Given the description of an element on the screen output the (x, y) to click on. 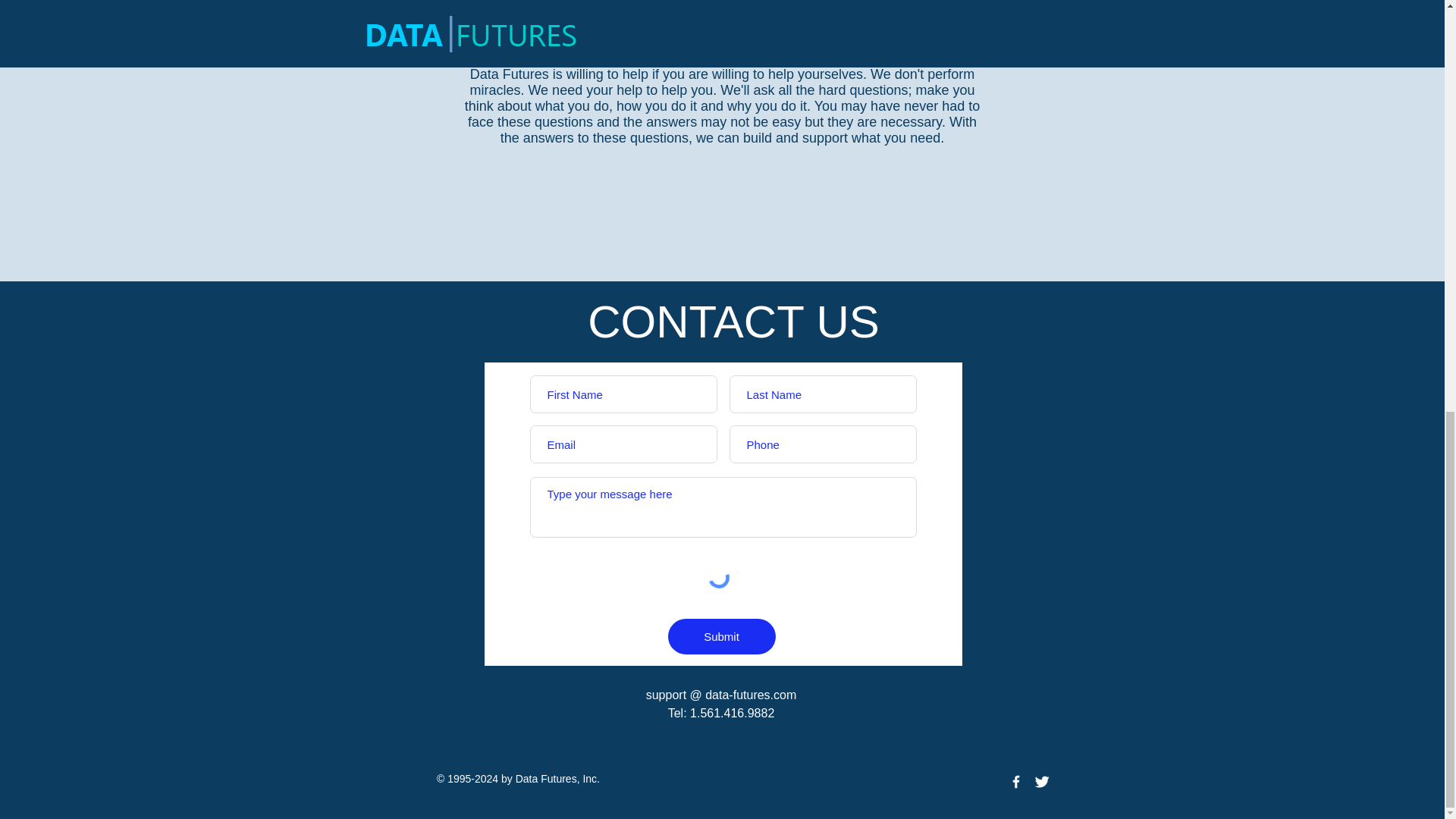
Submit (720, 636)
